Given the description of an element on the screen output the (x, y) to click on. 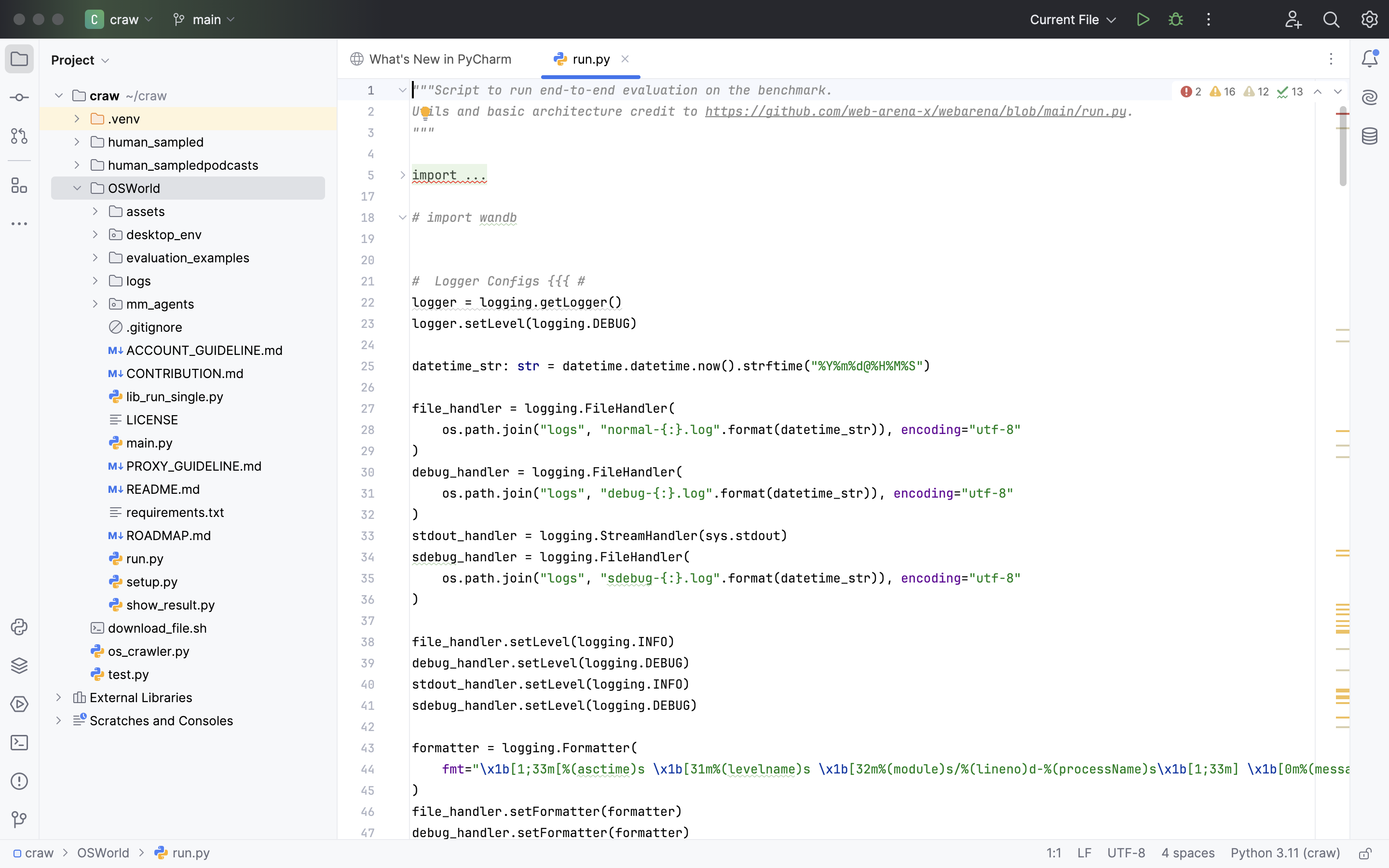
UTF-8 Element type: AXStaticText (1126, 854)
4 spaces Element type: AXStaticText (1188, 853)
evaluation_examples Element type: AXStaticText (179, 257)
0 Element type: AXStaticText (161, 604)
desktop_env Element type: AXStaticText (155, 233)
